Given the description of an element on the screen output the (x, y) to click on. 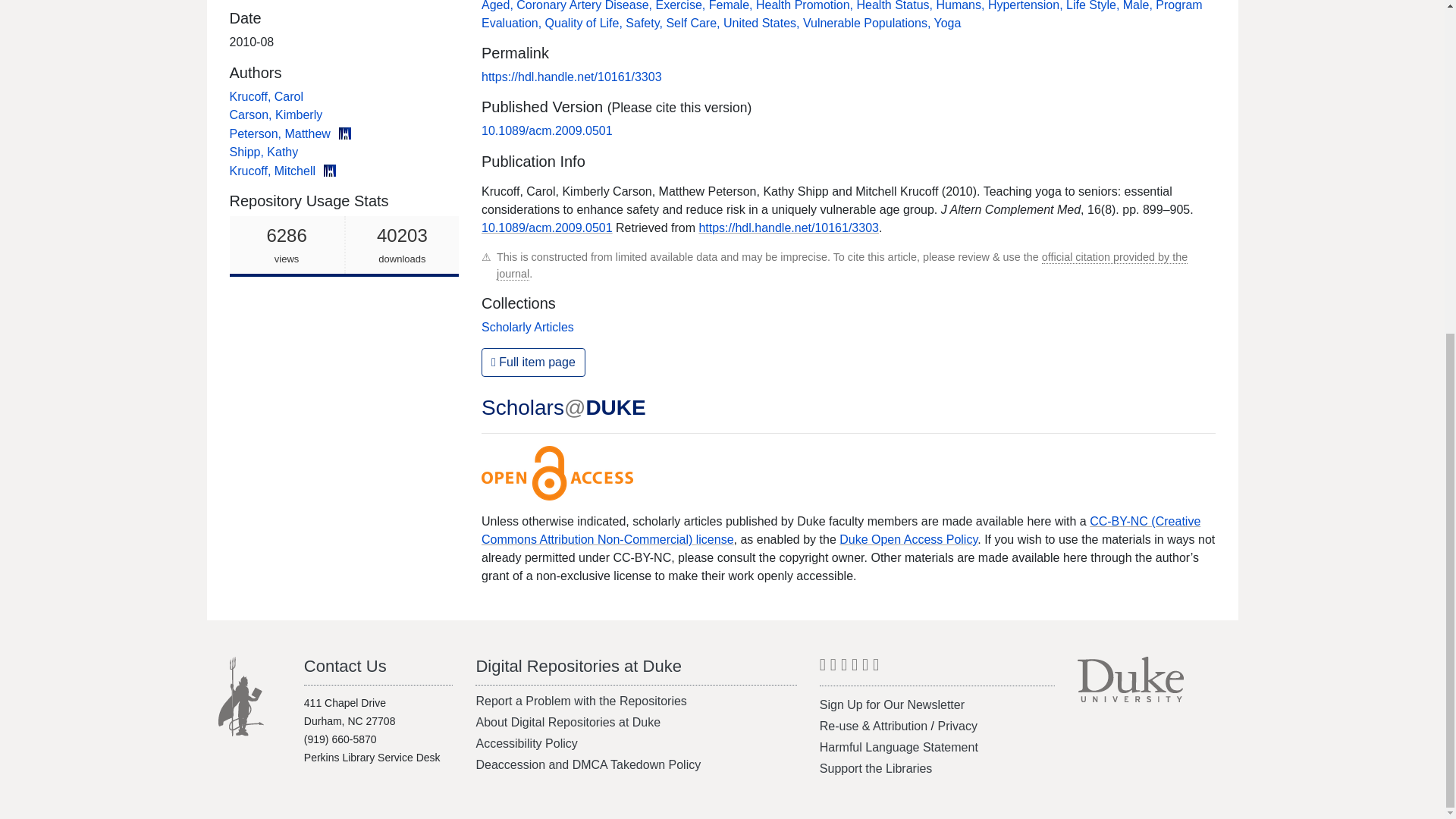
Exercise, (681, 5)
Krucoff, Carol (265, 96)
Peterson, Matthew (280, 133)
Hypertension, (343, 246)
Humans, (1026, 5)
Coronary Artery Disease, (961, 5)
Aged, (585, 5)
Shipp, Kathy (498, 5)
Female, (263, 151)
Carson, Kimberly (732, 5)
Health Promotion, (274, 114)
Health Status, (806, 5)
Krucoff, Mitchell (896, 5)
